Given the description of an element on the screen output the (x, y) to click on. 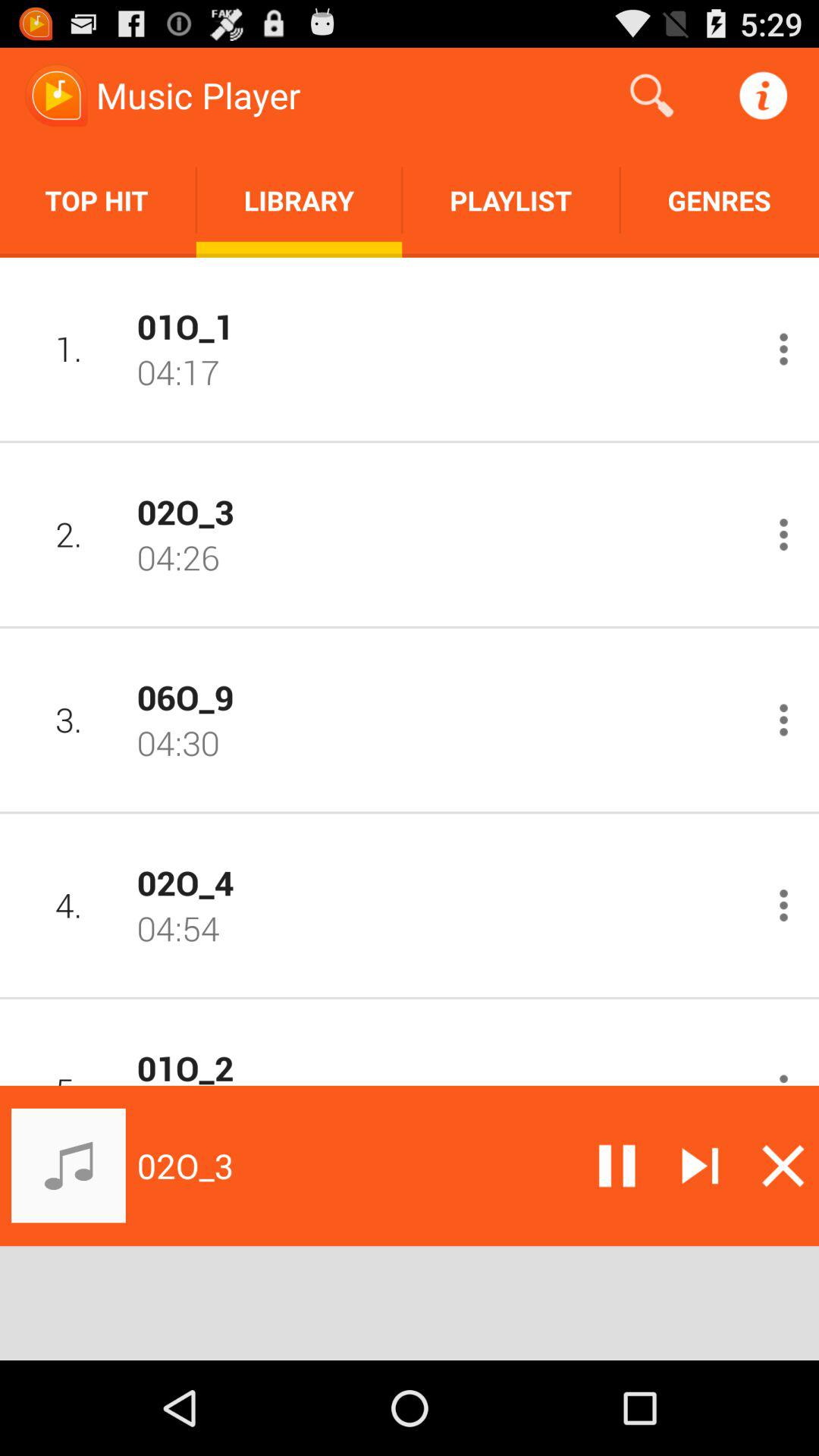
tap item to the left of the library icon (98, 200)
